Given the description of an element on the screen output the (x, y) to click on. 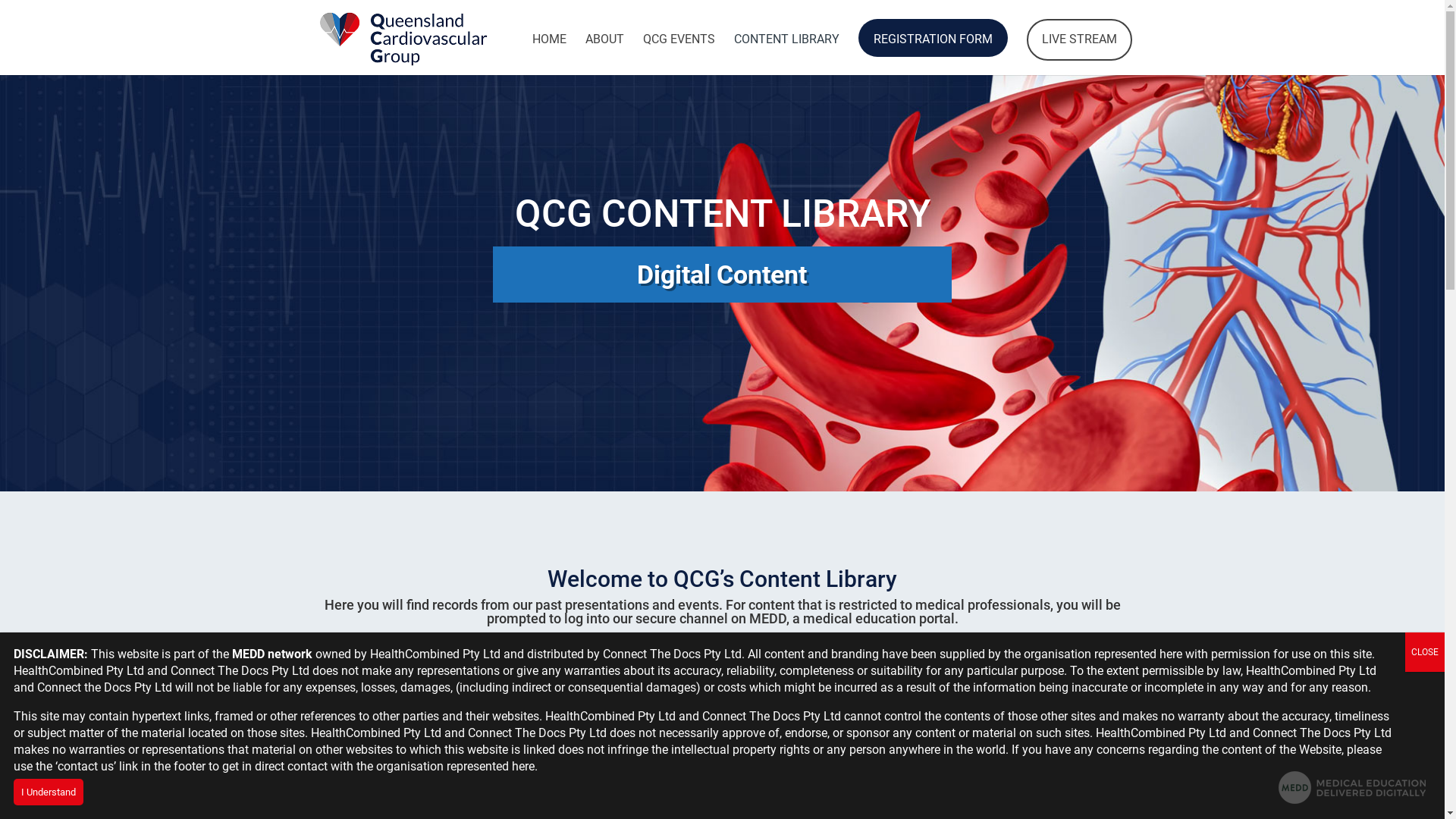
ABOUT Element type: text (604, 51)
LIVE STREAM Element type: text (1079, 39)
I Understand Element type: text (48, 791)
CLOSE Element type: text (1424, 651)
HOME Element type: text (549, 51)
CONTENT LIBRARY Element type: text (786, 51)
ATRIAL FIBRILLATION Element type: text (937, 694)
QCG EVENTS Element type: text (679, 51)
REGISTRATION FORM Element type: text (932, 37)
HEART FAILURE Element type: text (505, 694)
